Given the description of an element on the screen output the (x, y) to click on. 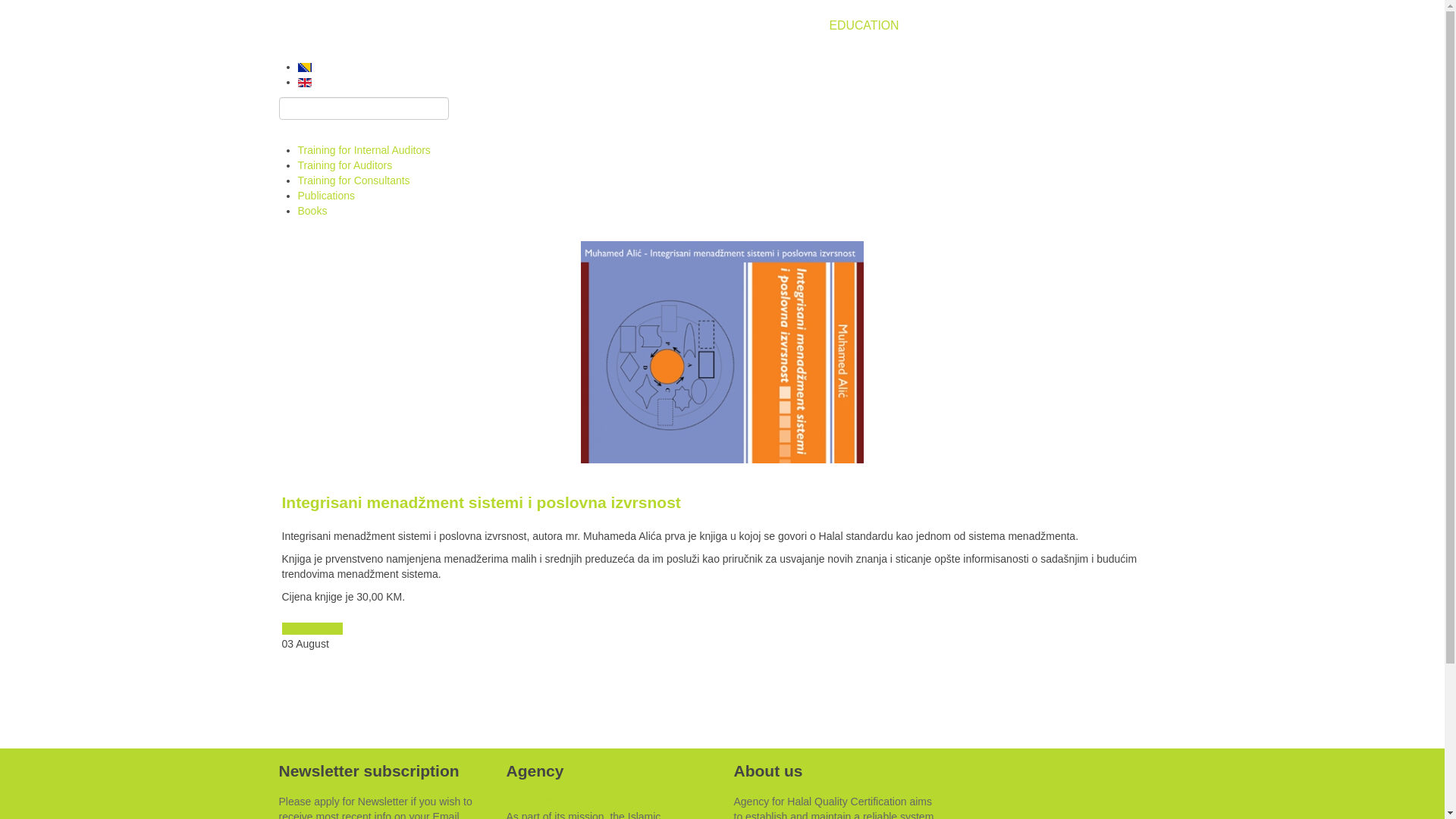
Bosanski (BA) Element type: hover (303, 67)
About the Agency Element type: text (551, 801)
CONTACTS Element type: text (1099, 25)
FAQ Element type: text (933, 25)
Read more... Element type: text (312, 628)
EDUCATION Element type: text (863, 25)
HOME Element type: text (616, 25)
English (UK) Element type: hover (303, 82)
NEWS Element type: text (674, 25)
Training for Consultants Element type: text (353, 180)
Books Element type: text (311, 210)
PUBLIC INFO Element type: text (1005, 25)
CERTIFICATION Element type: text (761, 25)
Publications Element type: text (325, 195)
Training for Internal Auditors Element type: text (363, 150)
Training for Auditors Element type: text (344, 165)
